Given the description of an element on the screen output the (x, y) to click on. 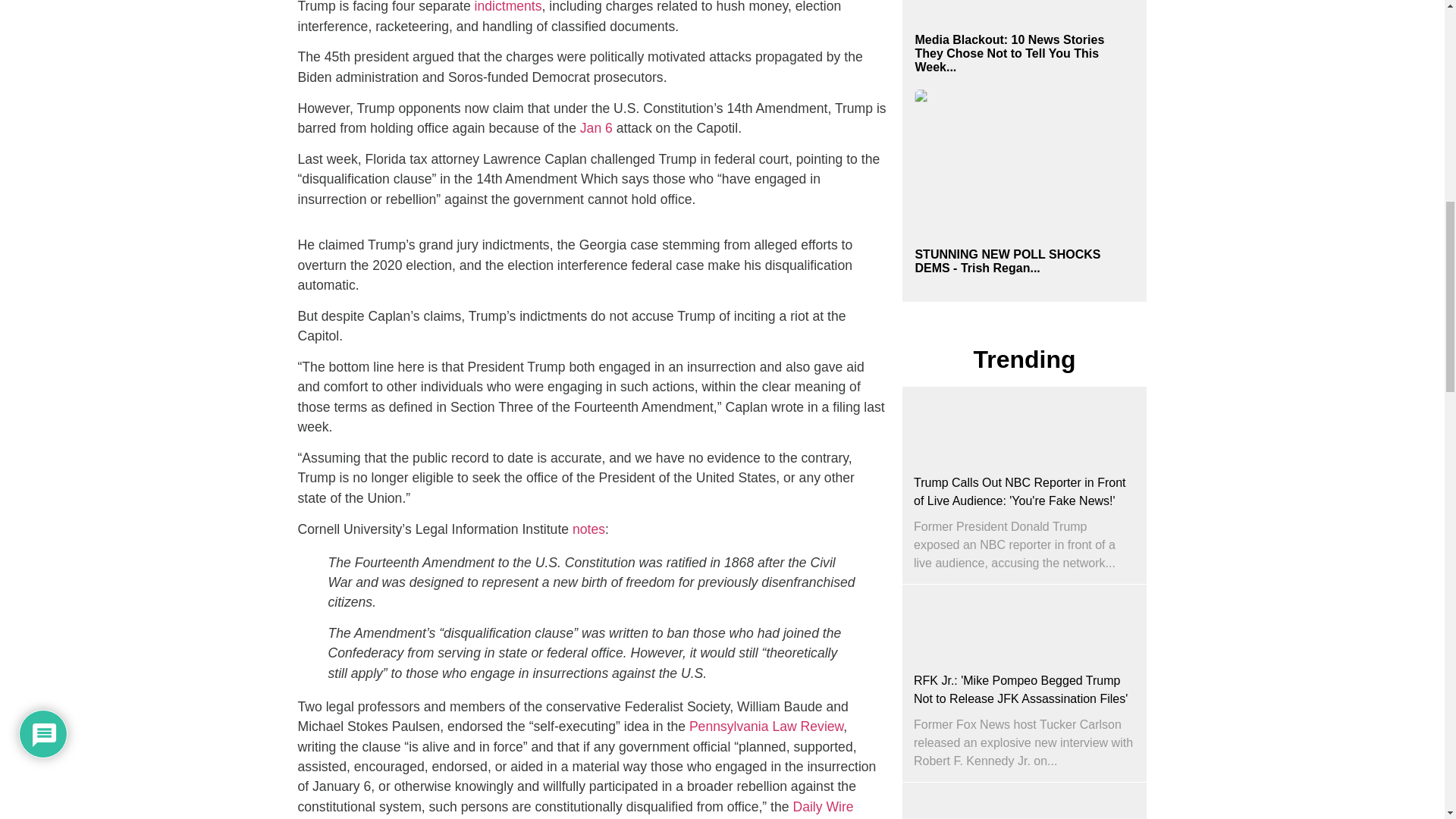
notes (588, 529)
Daily Wire (822, 806)
indictments (507, 6)
Pennsylvania Law Review (764, 726)
Jan 6 (594, 127)
